Given the description of an element on the screen output the (x, y) to click on. 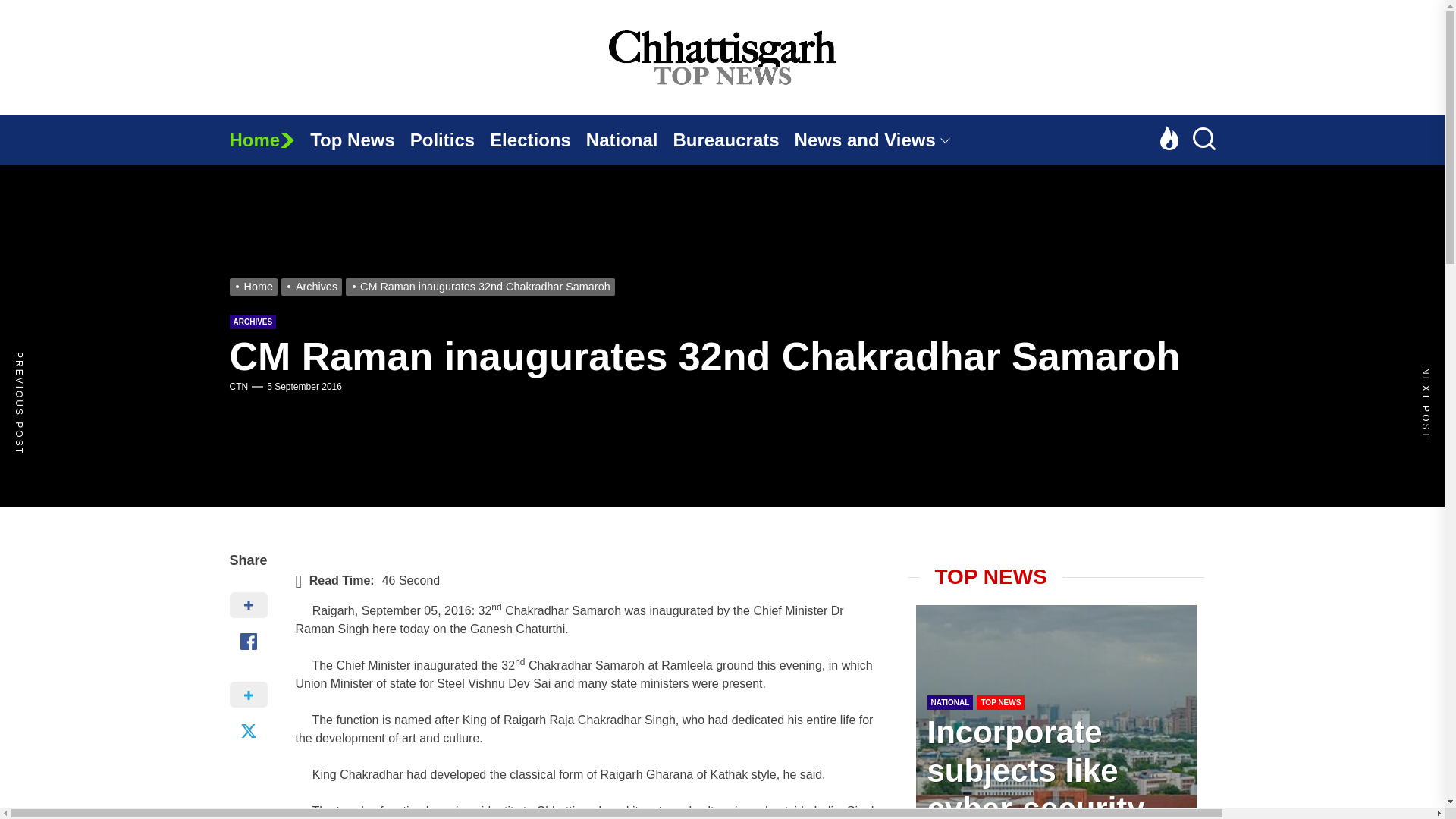
Bureaucrats (733, 140)
Top News (360, 140)
National (629, 140)
ChhattisgarhTopNews.Com (1032, 135)
Elections (537, 140)
Home (269, 140)
News and Views (880, 140)
Politics (449, 140)
Home (269, 140)
